Given the description of an element on the screen output the (x, y) to click on. 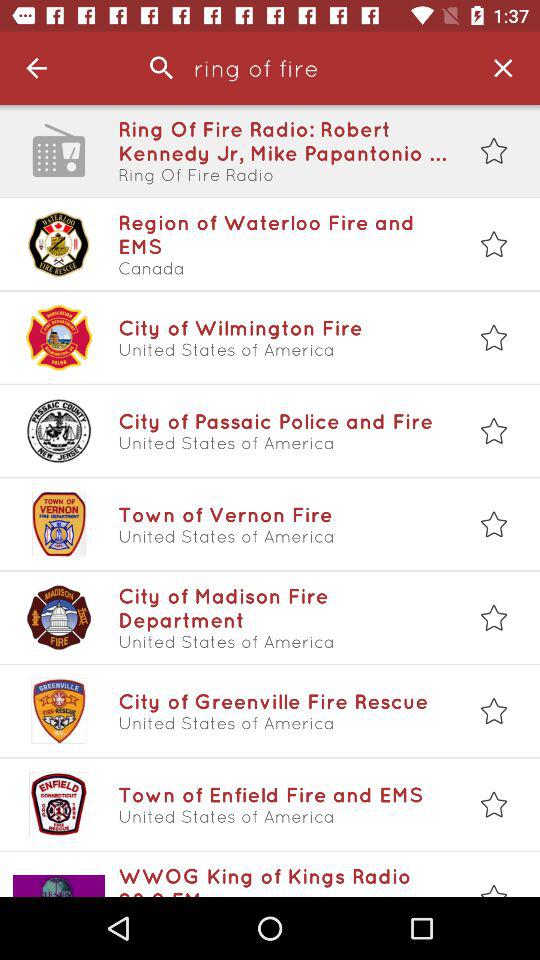
tap the canada item (283, 268)
